Given the description of an element on the screen output the (x, y) to click on. 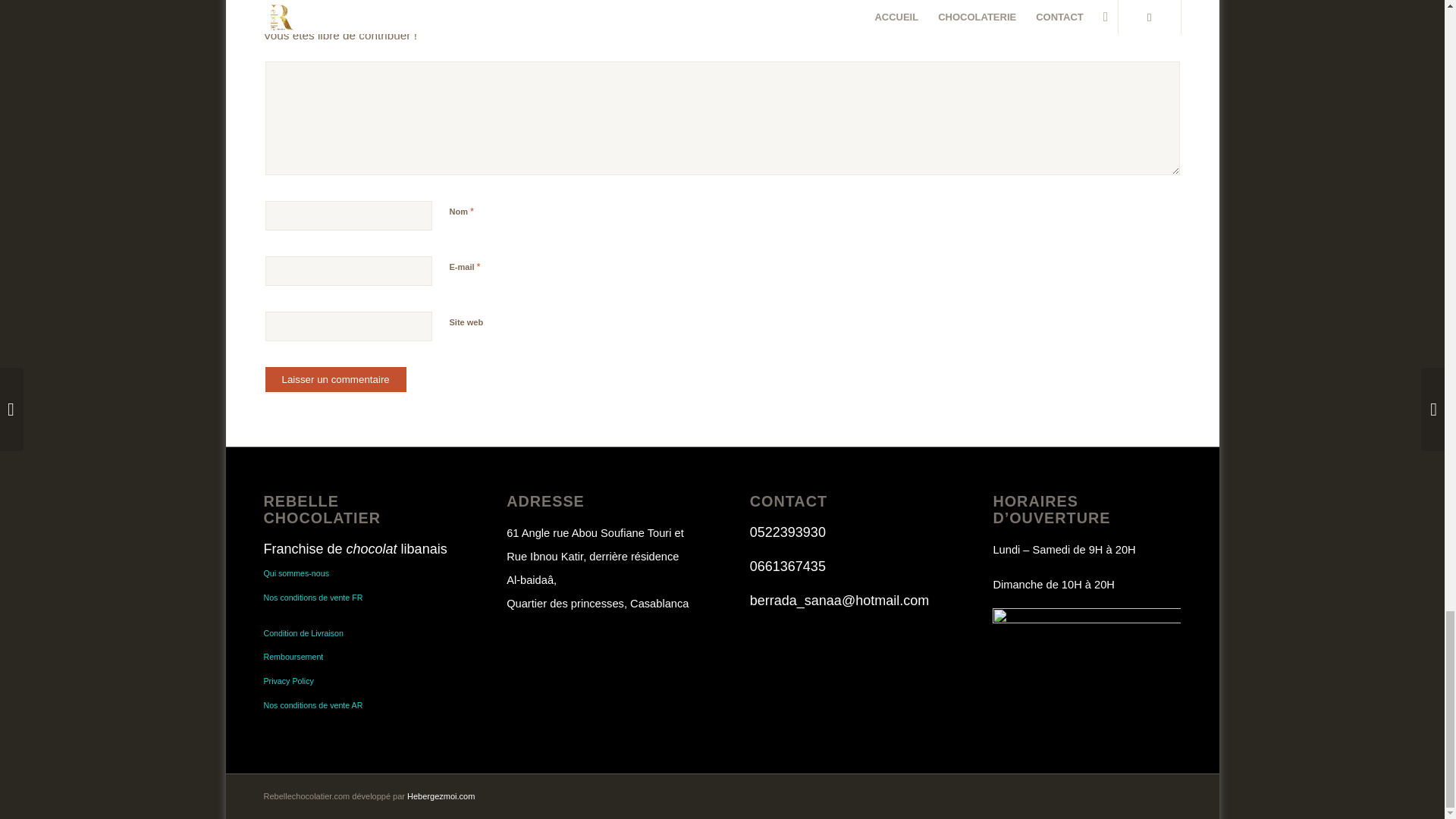
Nos conditions de vente FR (312, 596)
Qui sommes-nous (296, 573)
Condition de Livraison (303, 633)
Laisser un commentaire (335, 379)
Privacy Policy (288, 680)
Nos conditions de vente AR (312, 705)
Hebergezmoi.com (440, 795)
Remboursement (293, 655)
Laisser un commentaire (335, 379)
